Given the description of an element on the screen output the (x, y) to click on. 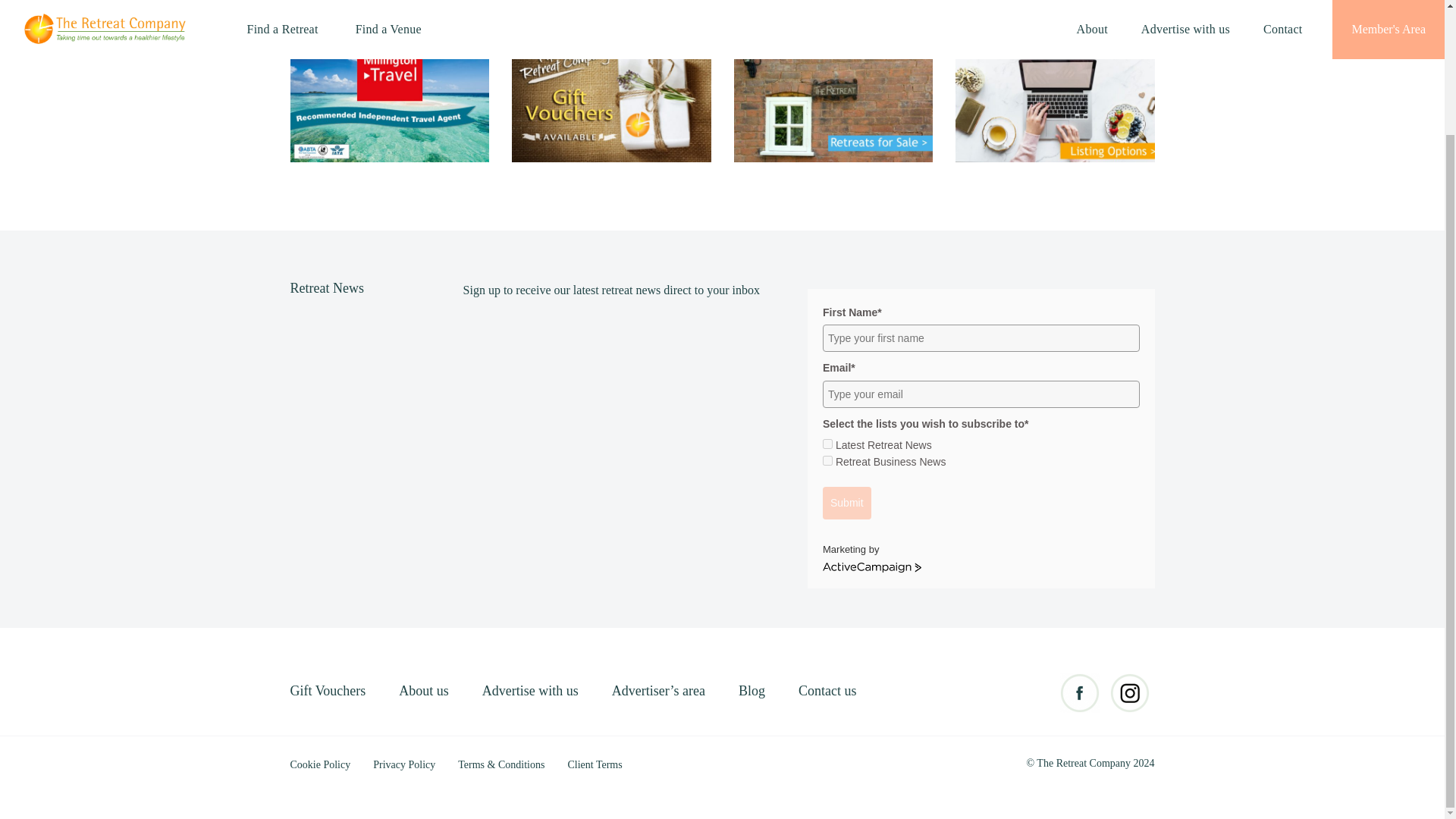
Gift Vouchers (342, 690)
Advertise with us (544, 690)
Search (197, 17)
Privacy Policy (413, 764)
2 (827, 443)
ActiveCampaign (871, 567)
About us (438, 690)
Contact us (827, 690)
Client Terms (594, 764)
3 (827, 460)
